Given the description of an element on the screen output the (x, y) to click on. 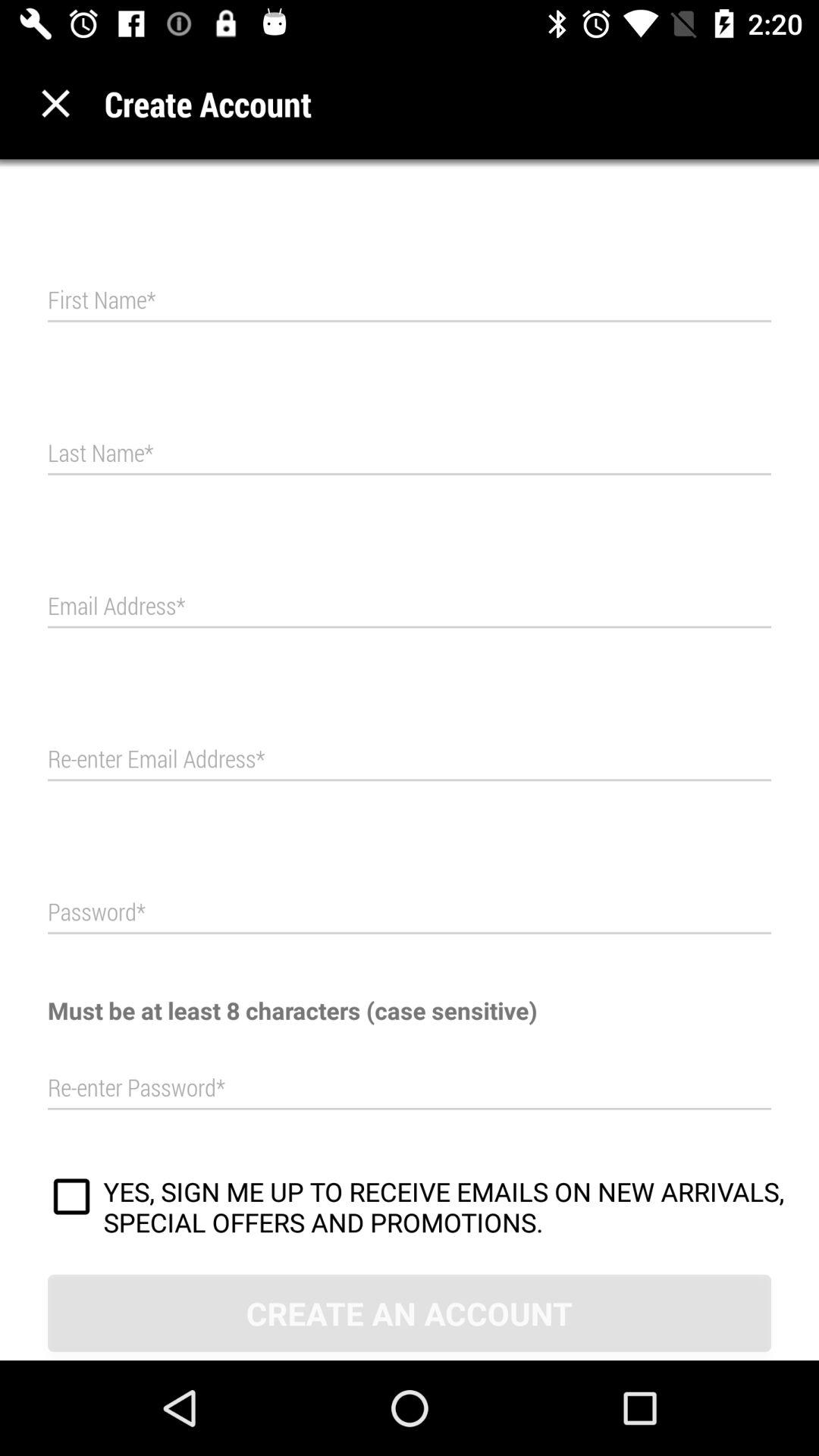
select to receive promotional emails (71, 1198)
